Given the description of an element on the screen output the (x, y) to click on. 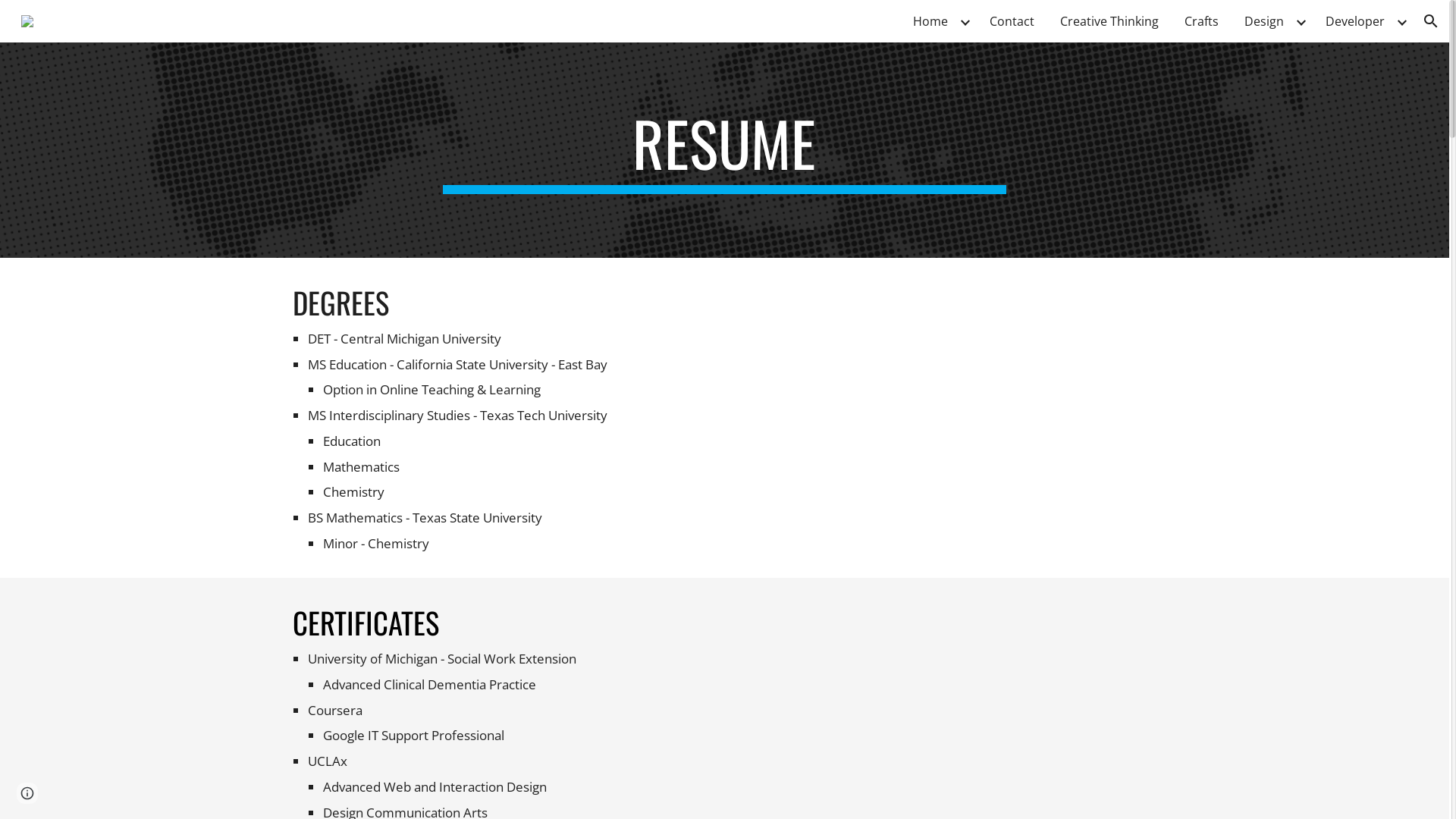
Creative Thinking Element type: text (1109, 20)
Contact Element type: text (1011, 20)
Expand/Collapse Element type: hover (1300, 20)
Developer Element type: text (1354, 20)
Design Element type: text (1263, 20)
Expand/Collapse Element type: hover (1401, 20)
Expand/Collapse Element type: hover (964, 20)
Crafts Element type: text (1201, 20)
Home Element type: text (930, 20)
